Given the description of an element on the screen output the (x, y) to click on. 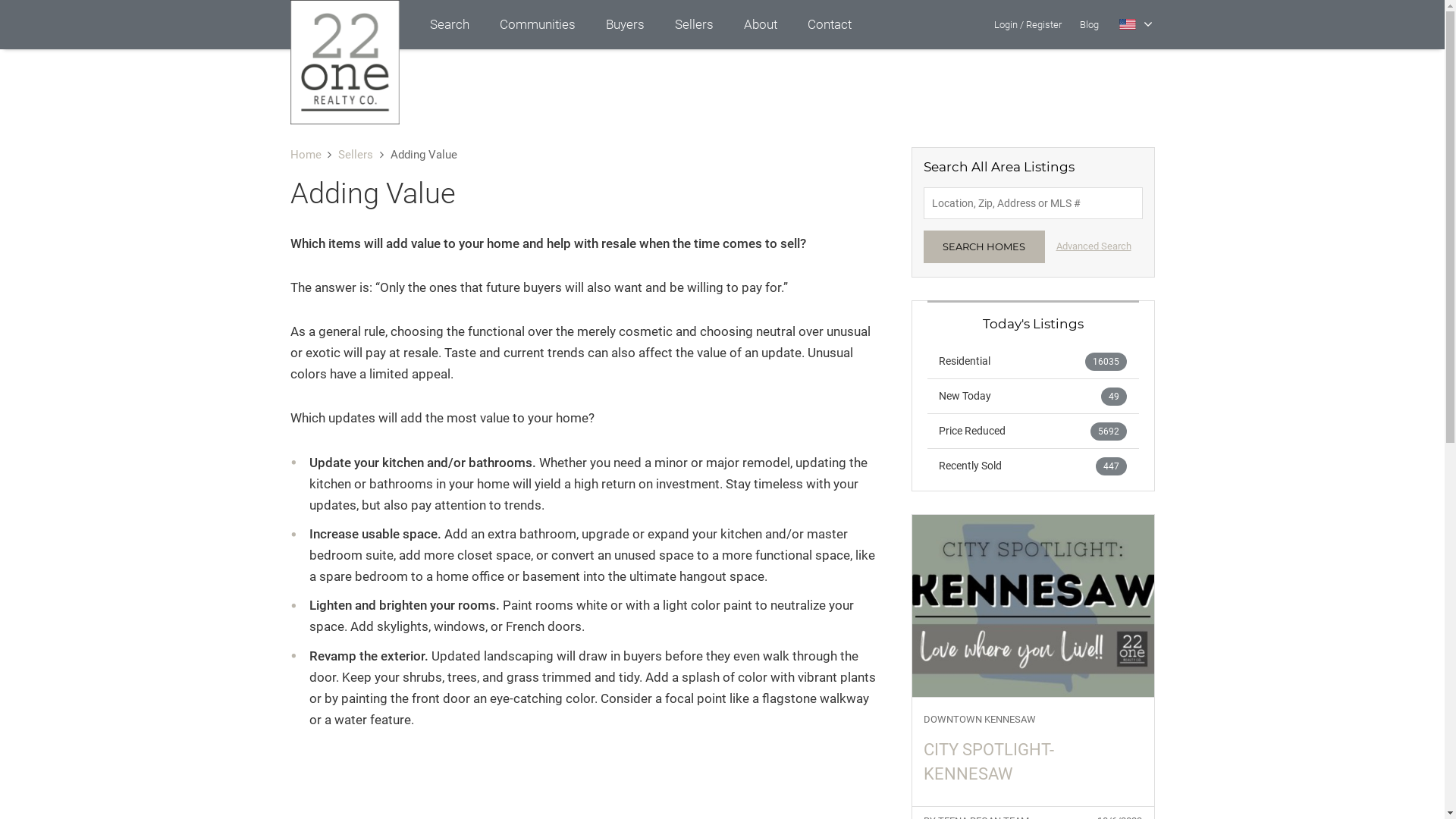
Login/ Element type: text (1009, 24)
Communities Element type: text (536, 24)
Sellers Element type: text (355, 154)
Enter Location, Zip, Address or MLS # Element type: hover (1032, 203)
Advanced Search Element type: text (1092, 246)
Residential
16035 Element type: text (1032, 361)
Buyers Element type: text (623, 24)
Blog Element type: text (1088, 24)
Price Reduced
5692 Element type: text (1032, 430)
Register Element type: text (1042, 24)
Recently Sold
447 Element type: text (1032, 465)
SEARCH HOMES Element type: text (983, 246)
About Element type: text (759, 24)
Contact Element type: text (828, 24)
DOWNTOWN KENNESAW Element type: text (1032, 719)
New Today
49 Element type: text (1032, 395)
Select Language Element type: hover (1135, 24)
Sellers Element type: text (693, 24)
Search Element type: text (448, 24)
CITY SPOTLIGHT- KENNESAW Element type: text (1032, 761)
Home Element type: text (304, 154)
